Given the description of an element on the screen output the (x, y) to click on. 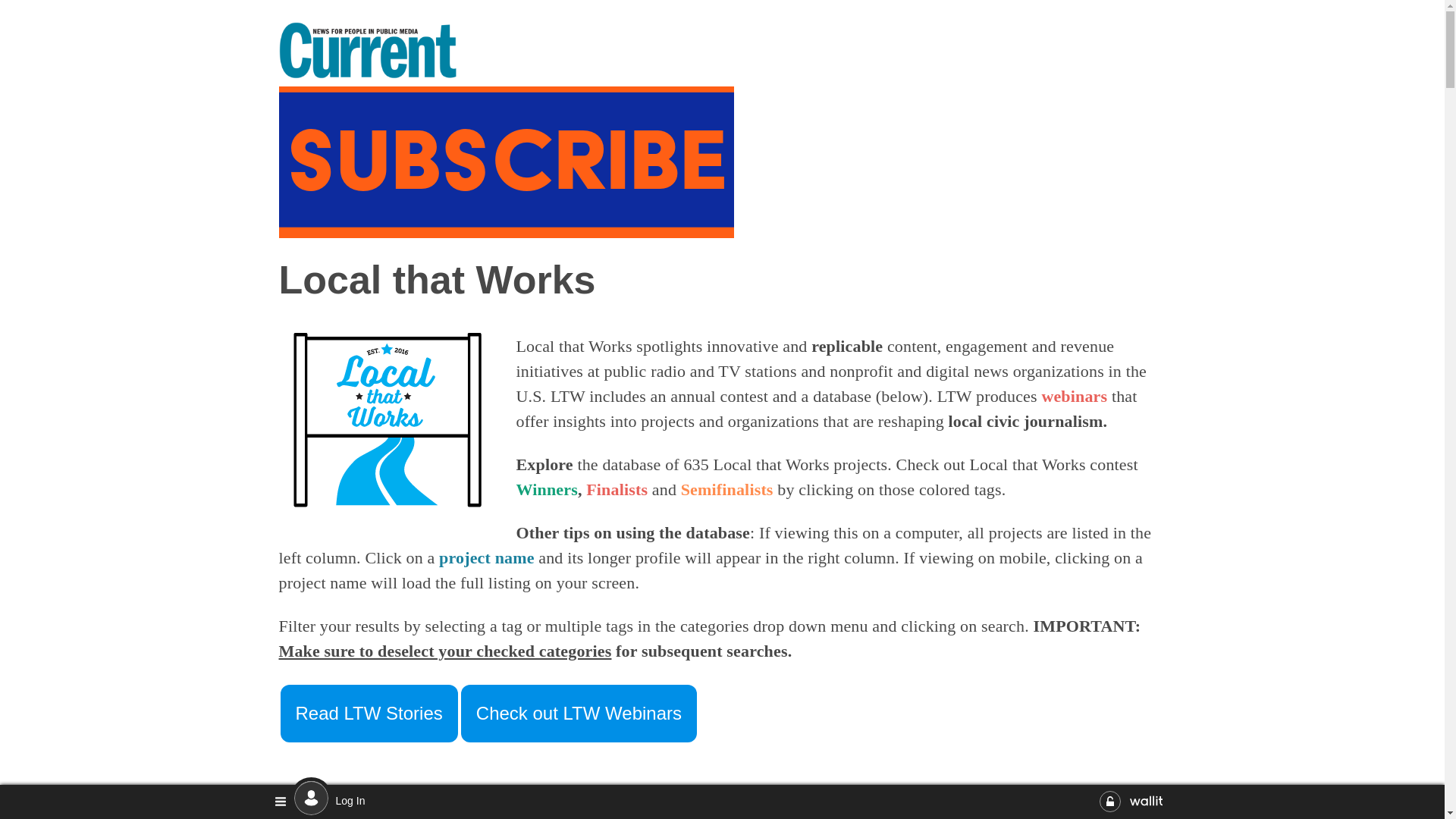
Check out LTW Webinars (578, 712)
Read LTW Stories (368, 712)
Finalists (616, 488)
Search (1142, 799)
webinars (1073, 395)
Search (468, 799)
Semifinalists (727, 488)
Winners (545, 488)
